Given the description of an element on the screen output the (x, y) to click on. 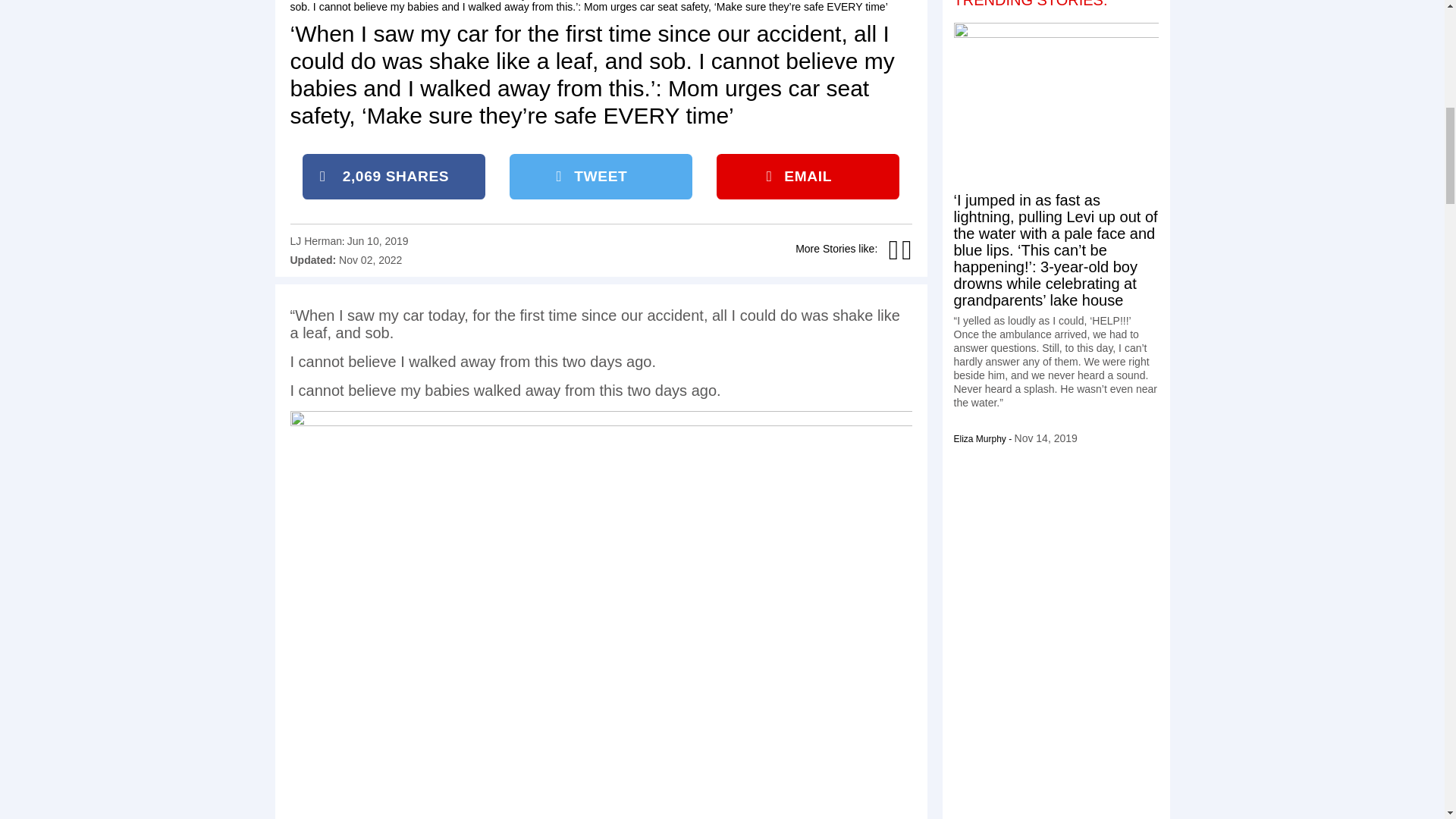
November 2, 2022 (370, 259)
June 10, 2019 (378, 241)
November 14, 2019 (1045, 438)
